Given the description of an element on the screen output the (x, y) to click on. 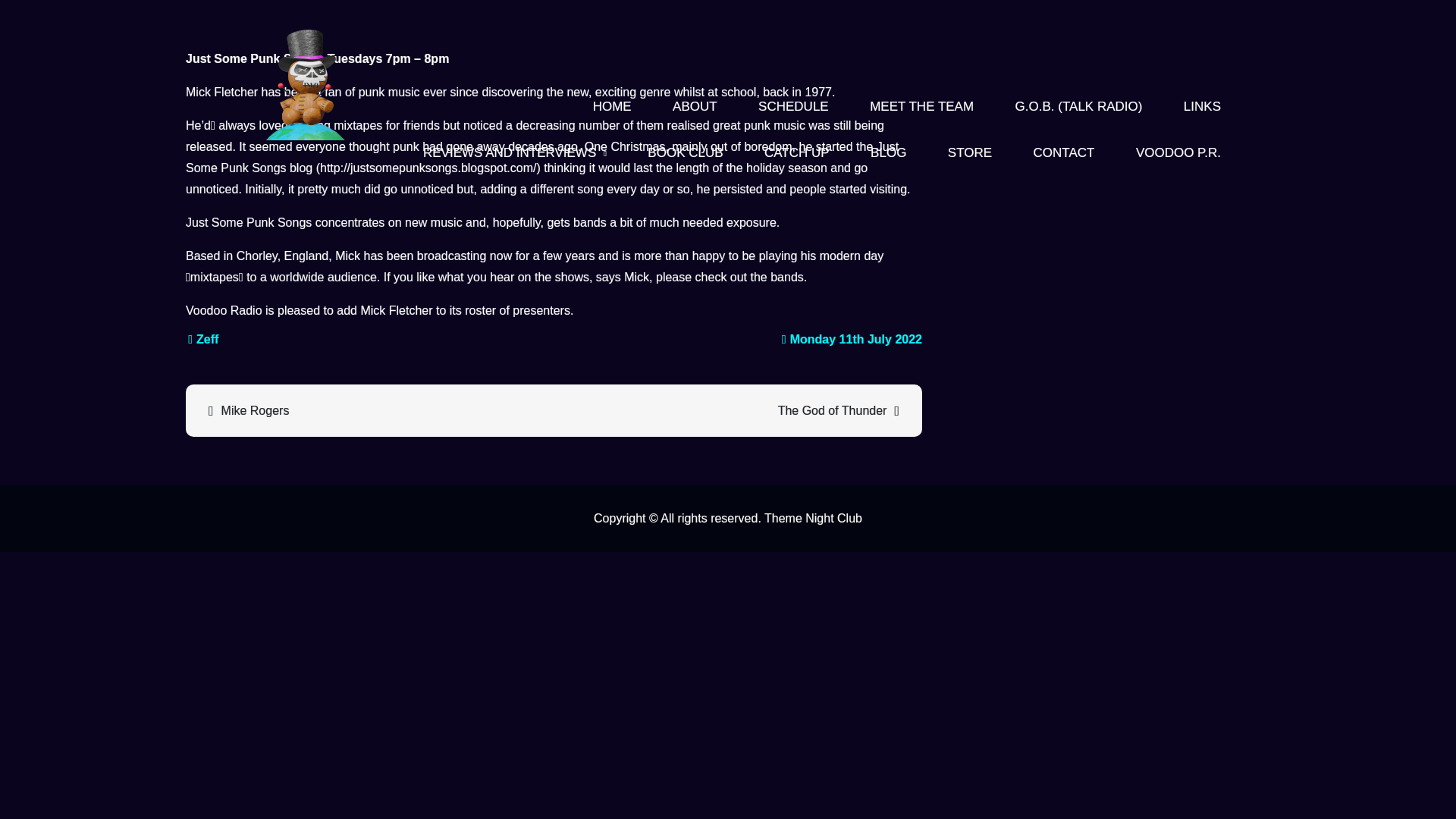
SCHEDULE (793, 106)
REVIEWS AND INTERVIEWS (515, 153)
The God of Thunder (736, 410)
STORE (969, 153)
LINKS (1202, 106)
Monday 11th July 2022 (851, 338)
BOOK CLUB (684, 153)
ABOUT (694, 106)
Zeff (202, 338)
BLOG (887, 153)
